Given the description of an element on the screen output the (x, y) to click on. 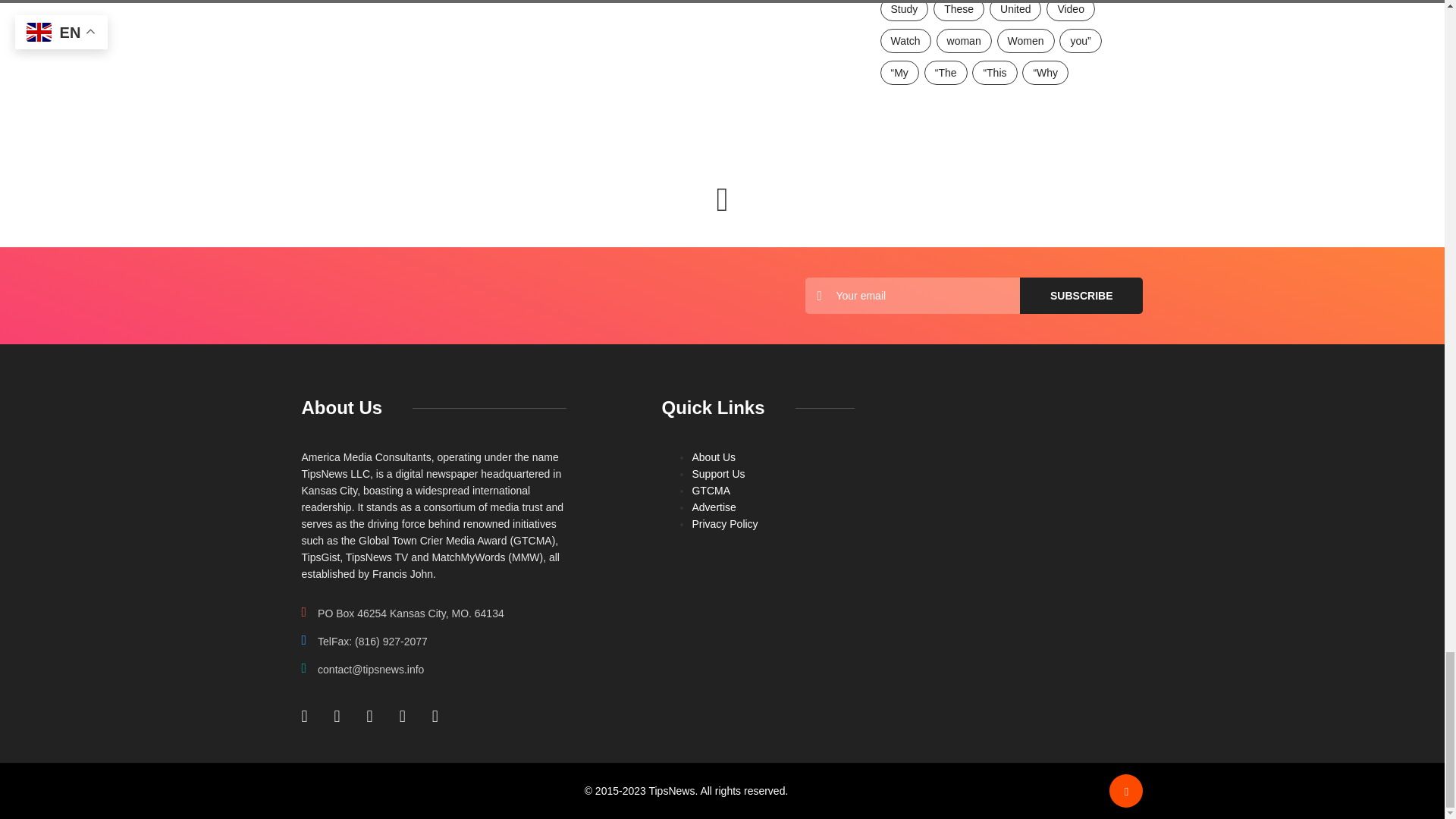
Subscribe (1081, 295)
